Given the description of an element on the screen output the (x, y) to click on. 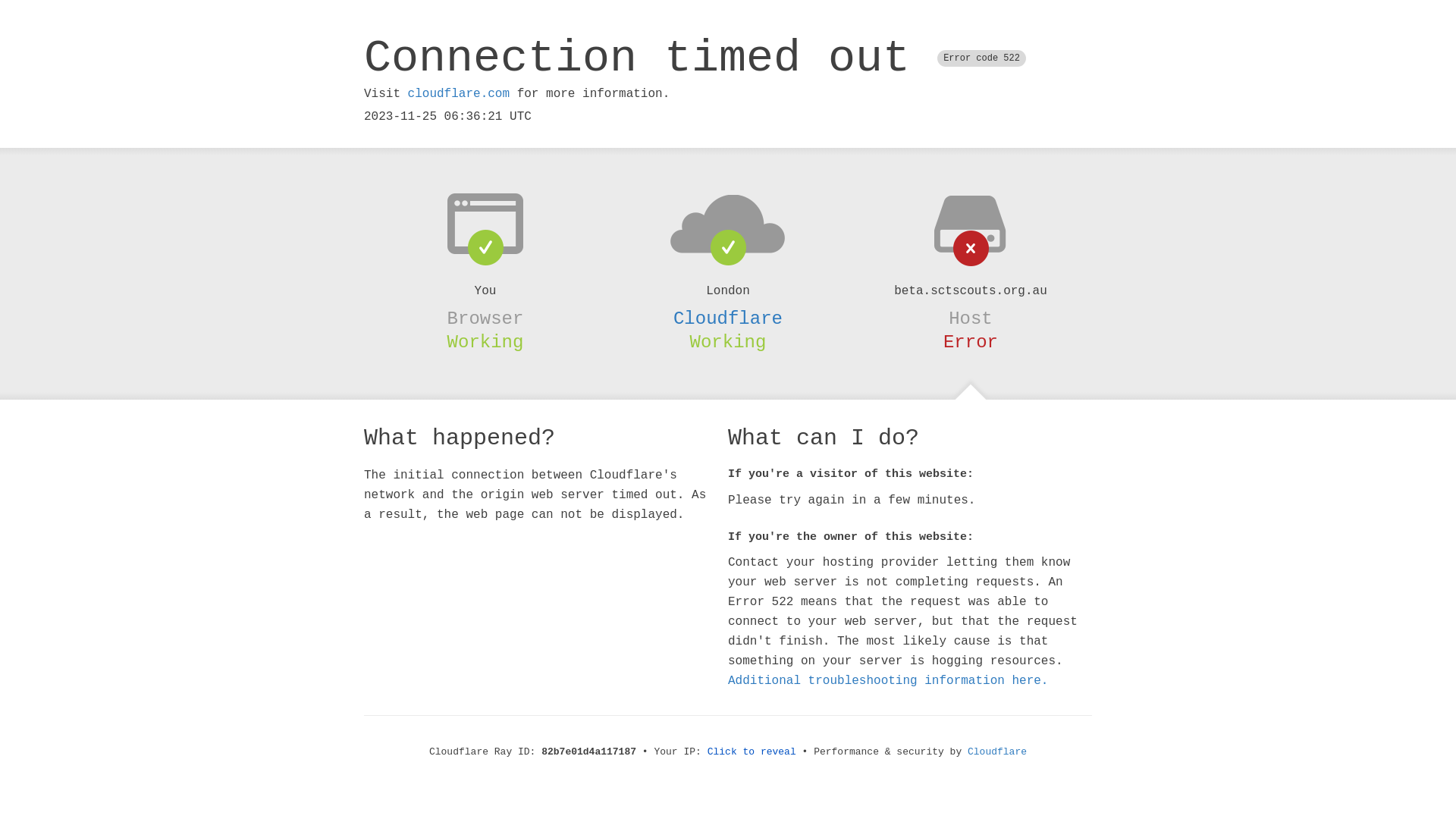
Additional troubleshooting information here. Element type: text (888, 680)
cloudflare.com Element type: text (458, 93)
Click to reveal Element type: text (751, 751)
Cloudflare Element type: text (996, 751)
Cloudflare Element type: text (727, 318)
